Given the description of an element on the screen output the (x, y) to click on. 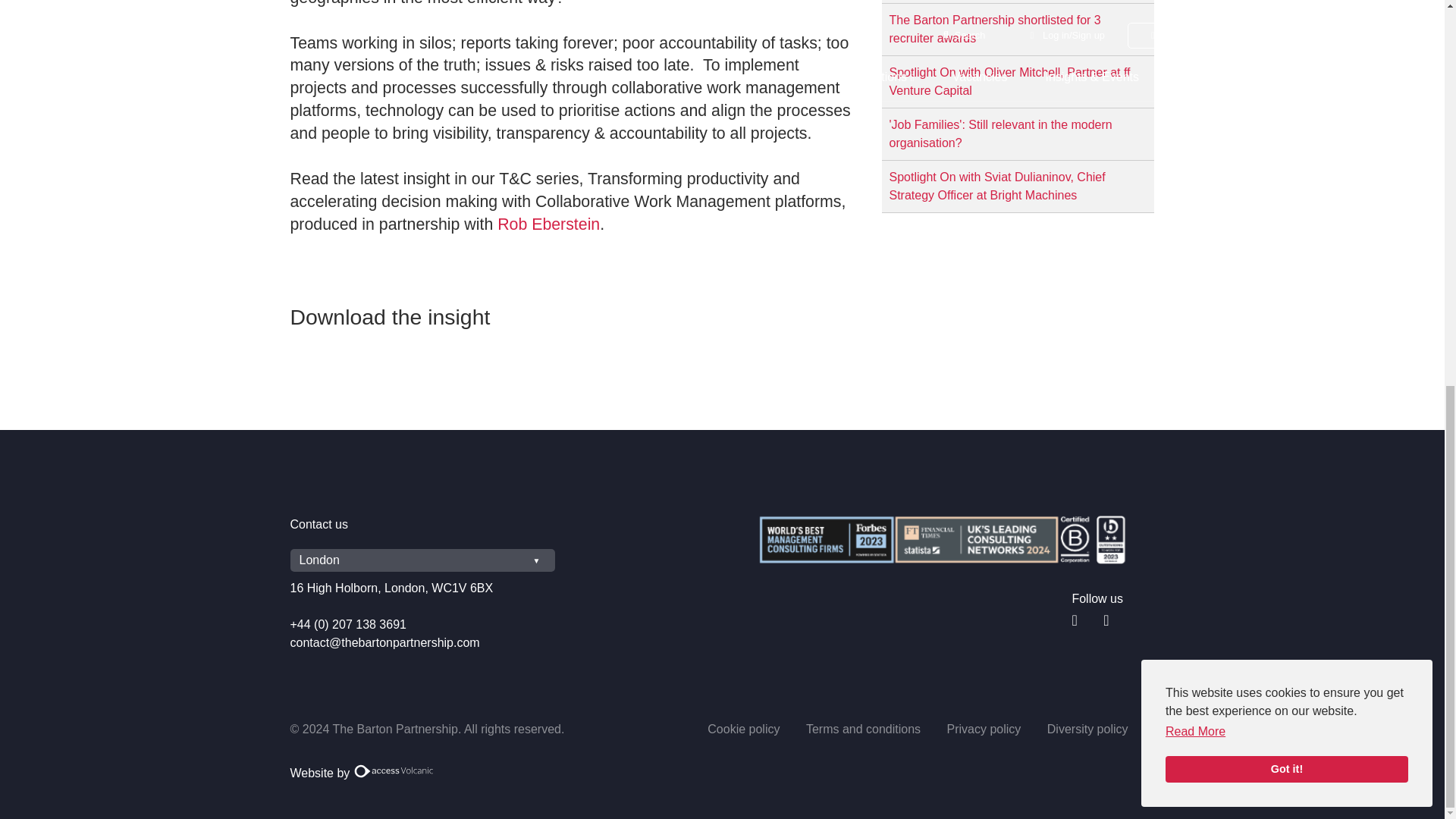
Rob Eberstein (548, 224)
Read More (1195, 7)
Got it! (1286, 40)
Download the insight (389, 319)
